Given the description of an element on the screen output the (x, y) to click on. 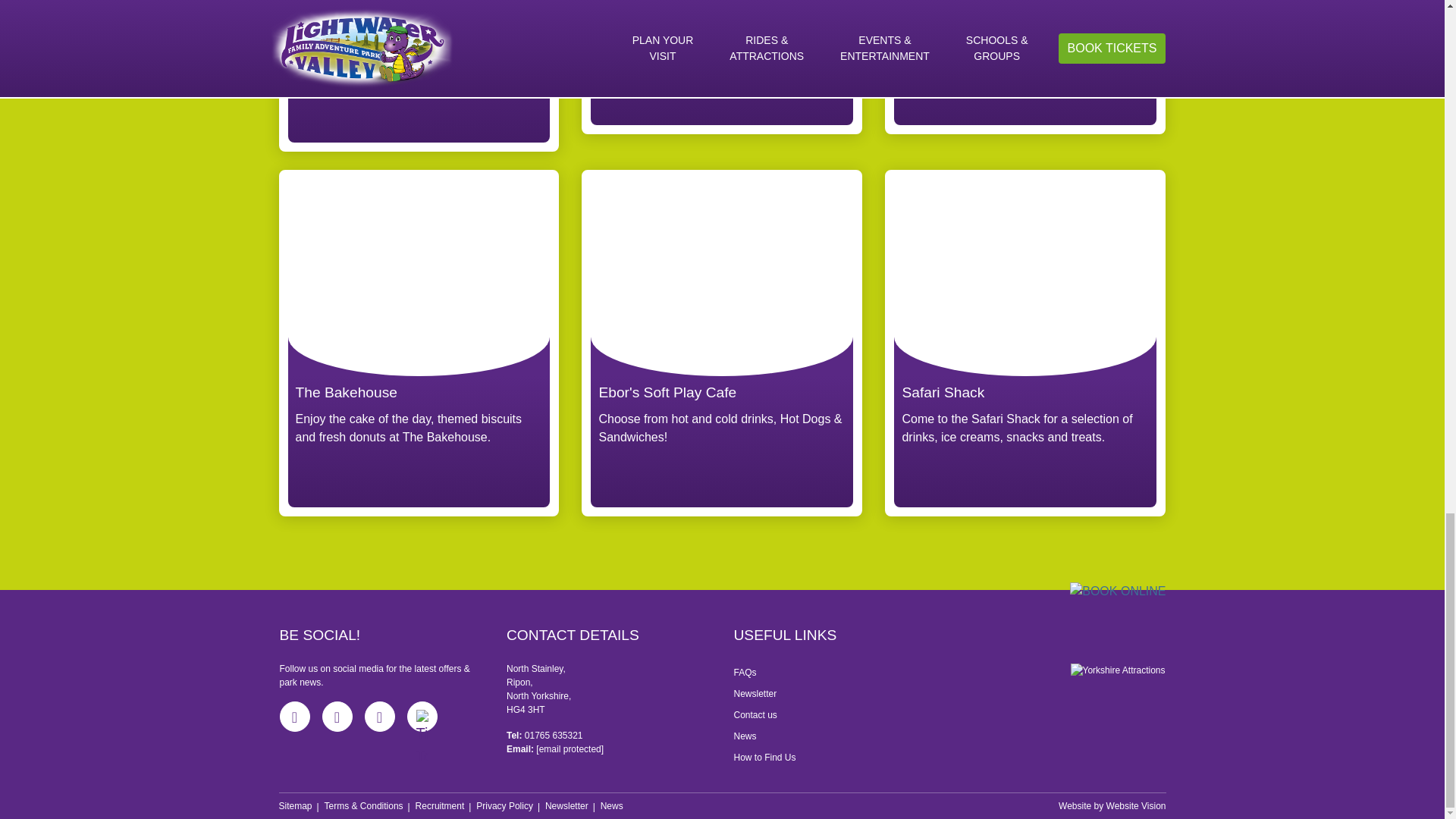
FAQs (836, 672)
News (836, 735)
Facebook (293, 716)
Newsletter (836, 693)
YouTube (379, 716)
How to Find Us (836, 757)
instagram (336, 716)
Contact us (836, 714)
TikTok (421, 716)
